Given the description of an element on the screen output the (x, y) to click on. 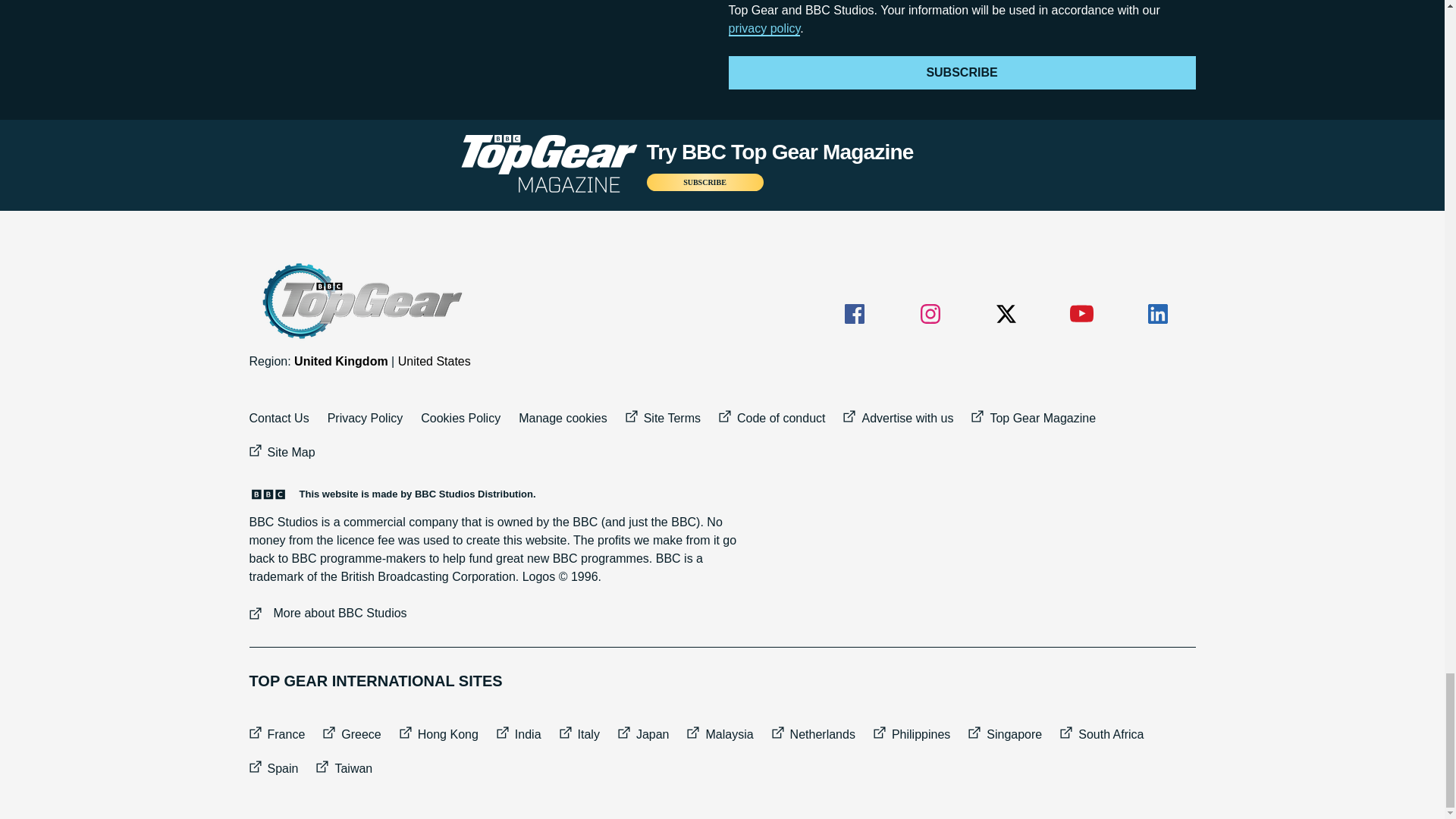
Home (359, 301)
